Given the description of an element on the screen output the (x, y) to click on. 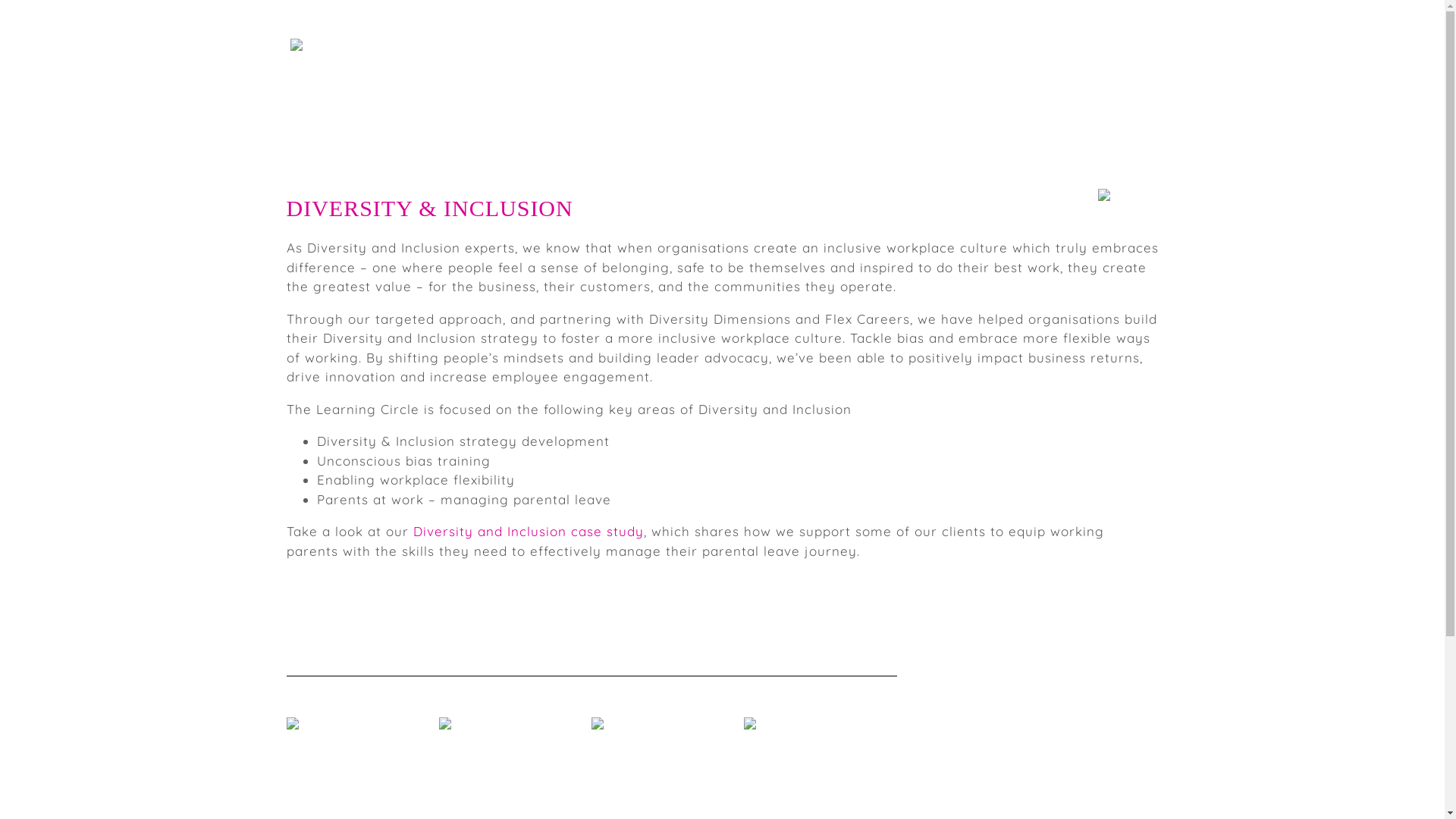
Diversity and Inclusion case study Element type: text (527, 531)
CONTACT Element type: text (1078, 69)
CASE STUDIES Element type: text (997, 69)
ABOUT Element type: text (922, 69)
